Given the description of an element on the screen output the (x, y) to click on. 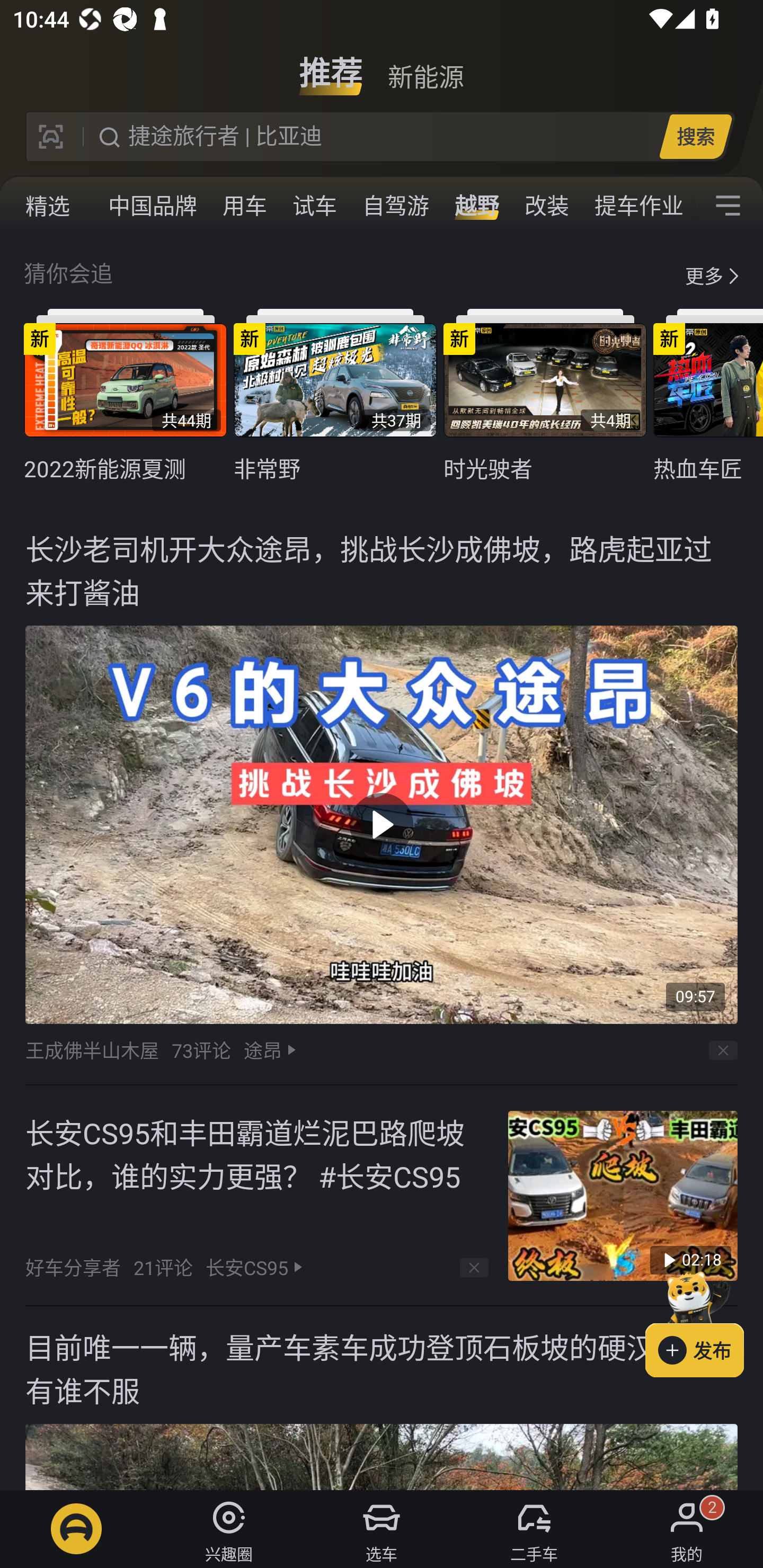
推荐 (330, 65)
新能源 (425, 65)
搜索 (695, 136)
中国品牌 (152, 205)
用车 (244, 205)
试车 (314, 205)
自驾游 (395, 205)
越野 (476, 205)
改装 (546, 205)
提车作业 (638, 205)
 (727, 205)
精选 (47, 206)
更多 (704, 275)
共44期 2022新能源夏测 (125, 395)
共37期 非常野 (335, 395)
共4期 时光驶者 (545, 395)
热血车匠 (708, 395)
途昂 (262, 1049)
长安CS95 (246, 1267)
发布 (704, 1320)
目前唯一一辆，量产车素车成功登顶石板坡的硬汉，还有谁不服 (381, 1397)
 兴趣圈 (228, 1528)
 选车 (381, 1528)
 二手车 (533, 1528)
 我的 (686, 1528)
